Given the description of an element on the screen output the (x, y) to click on. 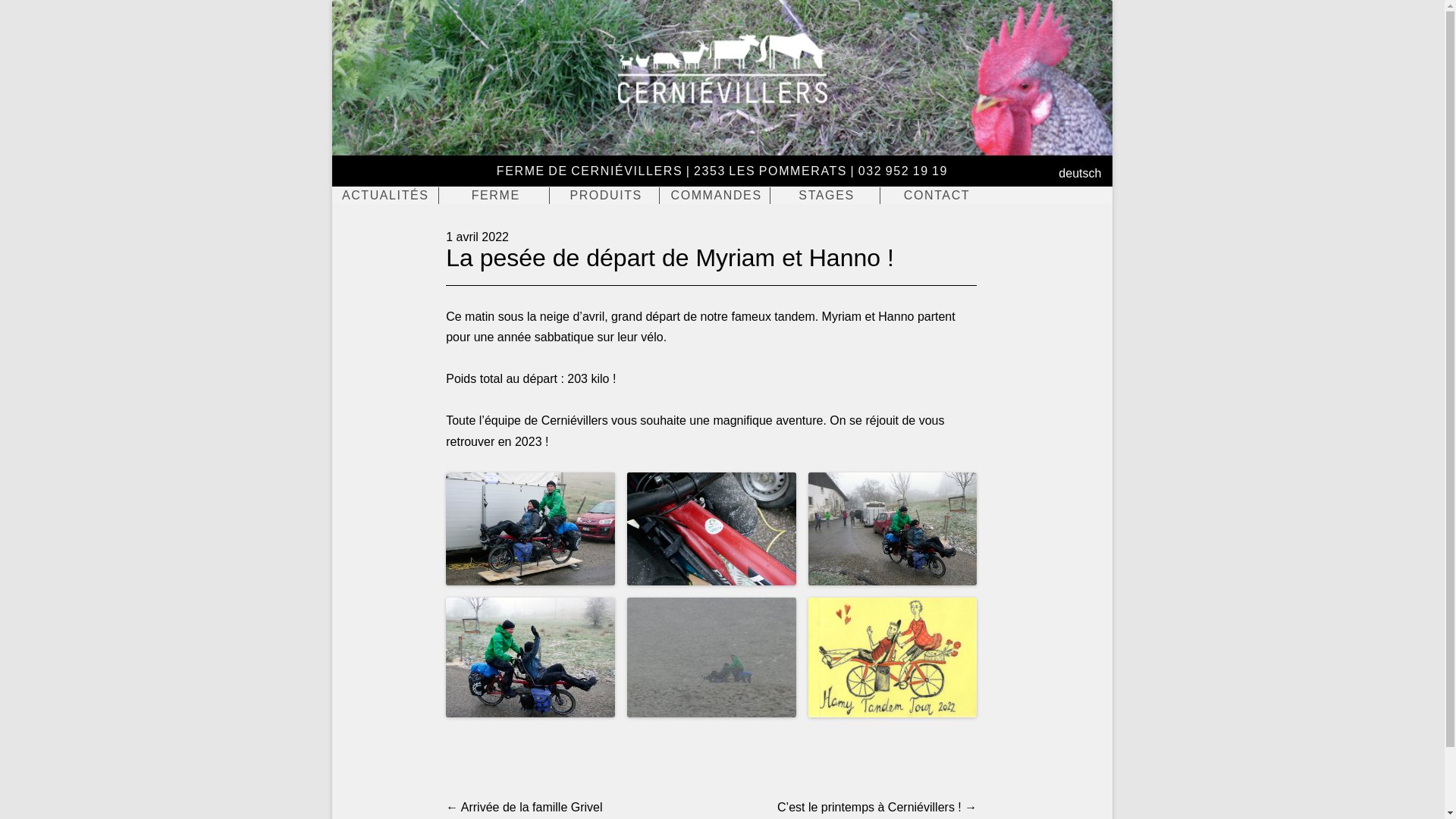
LIENS Element type: text (947, 194)
PRODUITS Element type: text (605, 195)
STAGES Element type: text (826, 195)
CONTACT Element type: text (936, 195)
FERME Element type: text (495, 195)
Skip to content Element type: text (387, 193)
deutsch Element type: text (1079, 172)
HISTORIQUE Element type: text (506, 194)
FROMAGE Element type: text (616, 194)
COMMANDES Element type: text (716, 195)
